Given the description of an element on the screen output the (x, y) to click on. 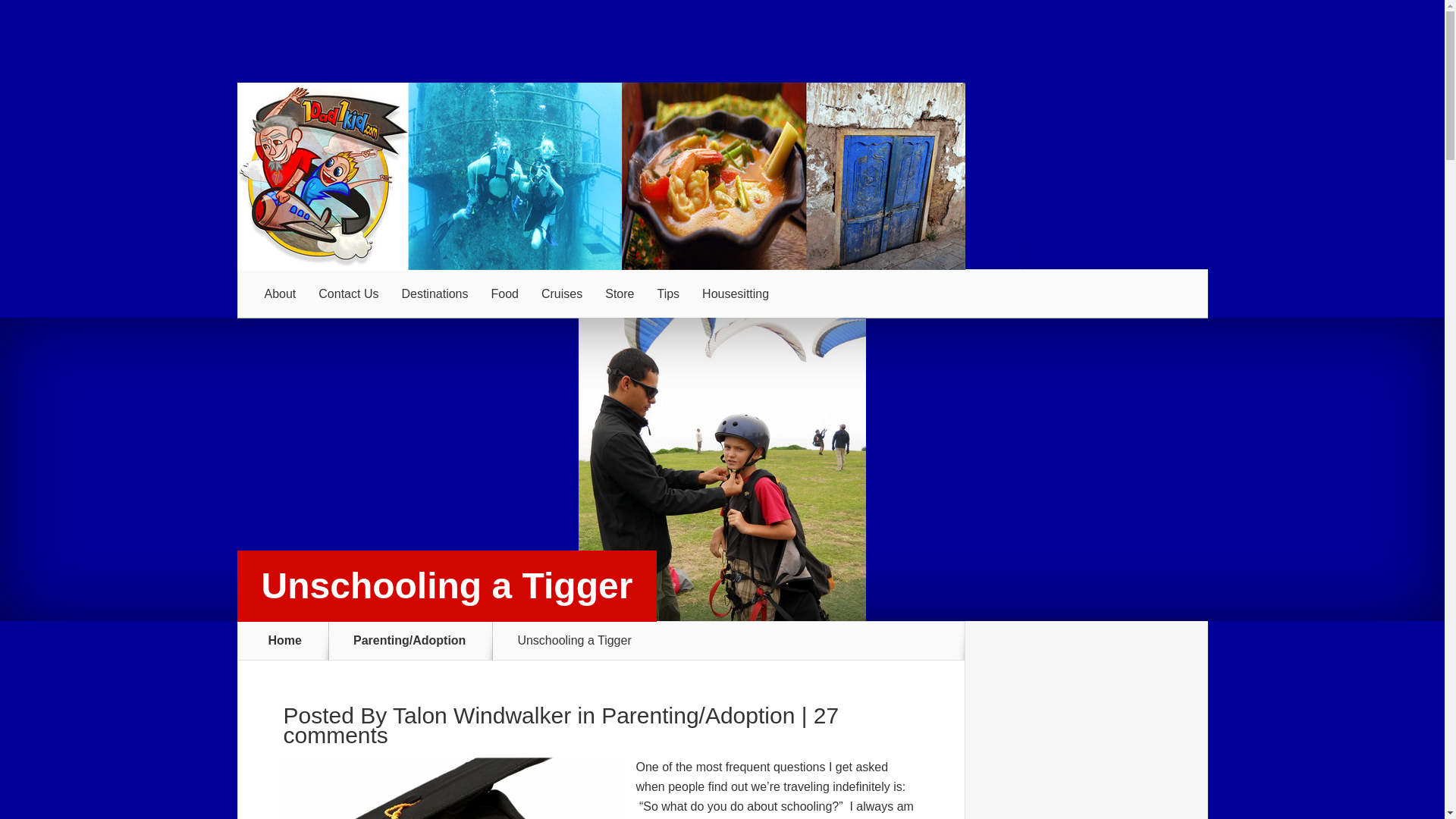
About (280, 294)
Contact Us (348, 294)
education (453, 788)
Posts by Talon Windwalker (481, 715)
Destinations (434, 294)
